Given the description of an element on the screen output the (x, y) to click on. 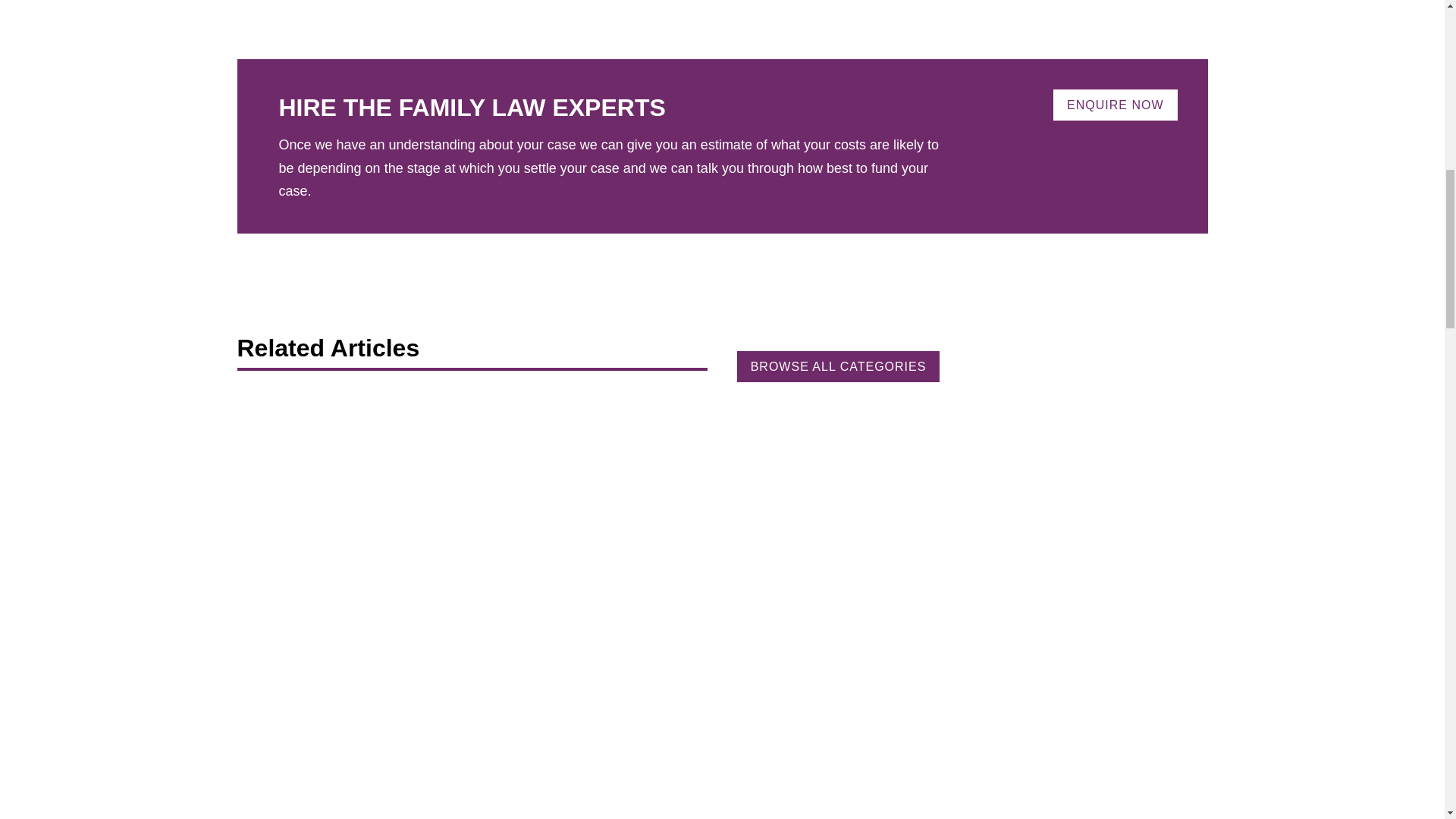
ENQUIRE NOW (1114, 104)
BROWSE ALL CATEGORIES (838, 366)
